Given the description of an element on the screen output the (x, y) to click on. 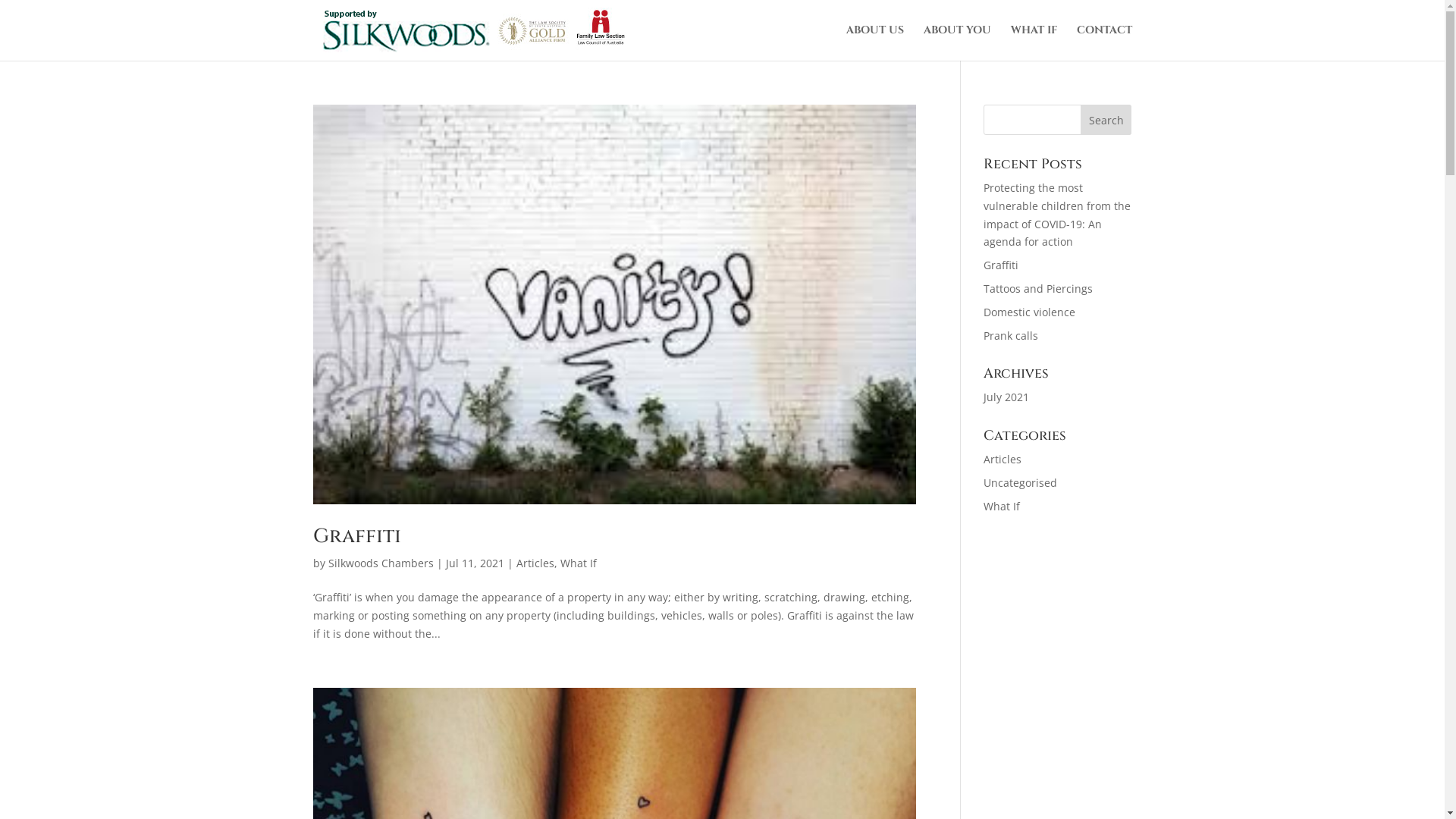
Prank calls Element type: text (1010, 335)
Silkwoods Chambers Element type: text (380, 562)
What If Element type: text (1001, 505)
Uncategorised Element type: text (1020, 482)
WHAT IF Element type: text (1033, 42)
ABOUT YOU Element type: text (957, 42)
Tattoos and Piercings Element type: text (1037, 288)
What If Element type: text (577, 562)
Search Element type: text (1106, 119)
ABOUT US Element type: text (874, 42)
July 2021 Element type: text (1006, 396)
CONTACT Element type: text (1104, 42)
Articles Element type: text (534, 562)
Graffiti Element type: text (356, 536)
Domestic violence Element type: text (1029, 311)
Articles Element type: text (1002, 458)
Graffiti Element type: text (1000, 264)
